Given the description of an element on the screen output the (x, y) to click on. 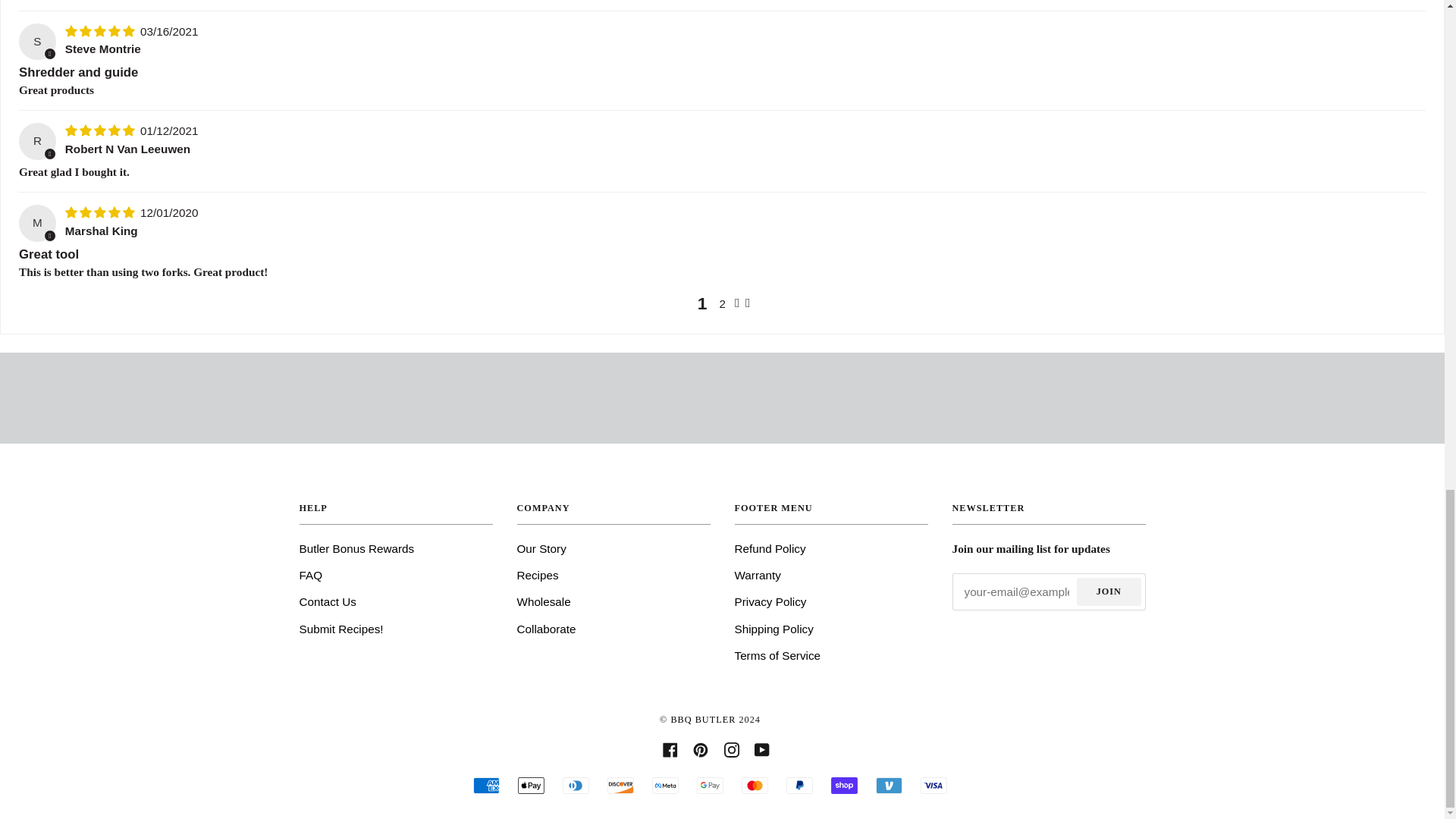
VENMO (889, 785)
SHOP PAY (844, 785)
VISA (933, 785)
APPLE PAY (531, 785)
MASTERCARD (754, 785)
Instagram (731, 748)
META PAY (665, 785)
Pinterest (700, 748)
PAYPAL (799, 785)
DISCOVER (620, 785)
Facebook (670, 748)
YouTube (762, 748)
GOOGLE PAY (710, 785)
DINERS CLUB (575, 785)
AMERICAN EXPRESS (486, 785)
